Given the description of an element on the screen output the (x, y) to click on. 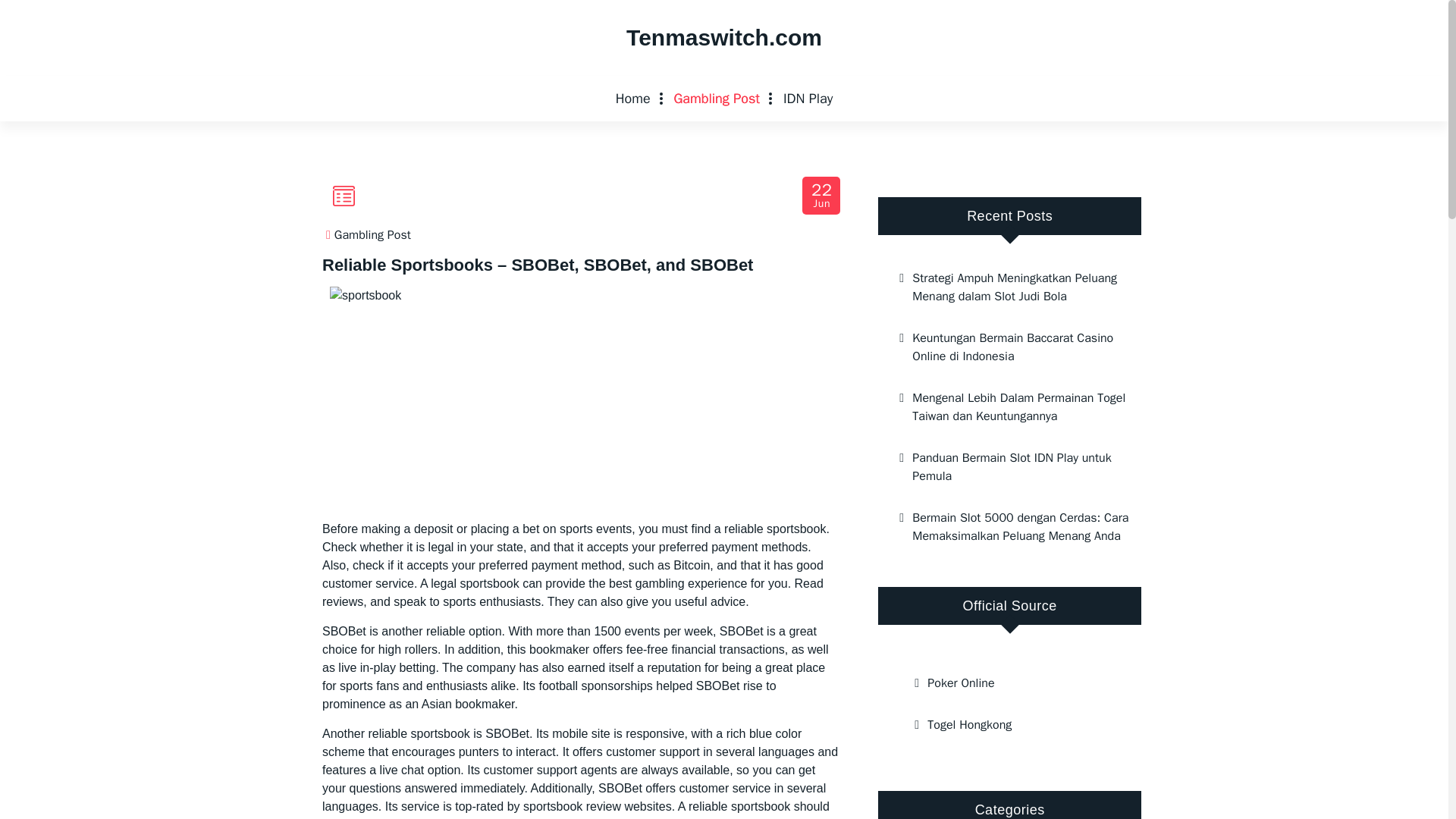
Keuntungan Bermain Baccarat Casino Online di Indonesia (1009, 346)
IDN Play (807, 98)
Gambling Post (716, 98)
Tenmaswitch.com (724, 37)
Panduan Bermain Slot IDN Play untuk Pemula (1009, 466)
Gambling Post (716, 98)
Poker Online (1009, 682)
Home (633, 98)
